Given the description of an element on the screen output the (x, y) to click on. 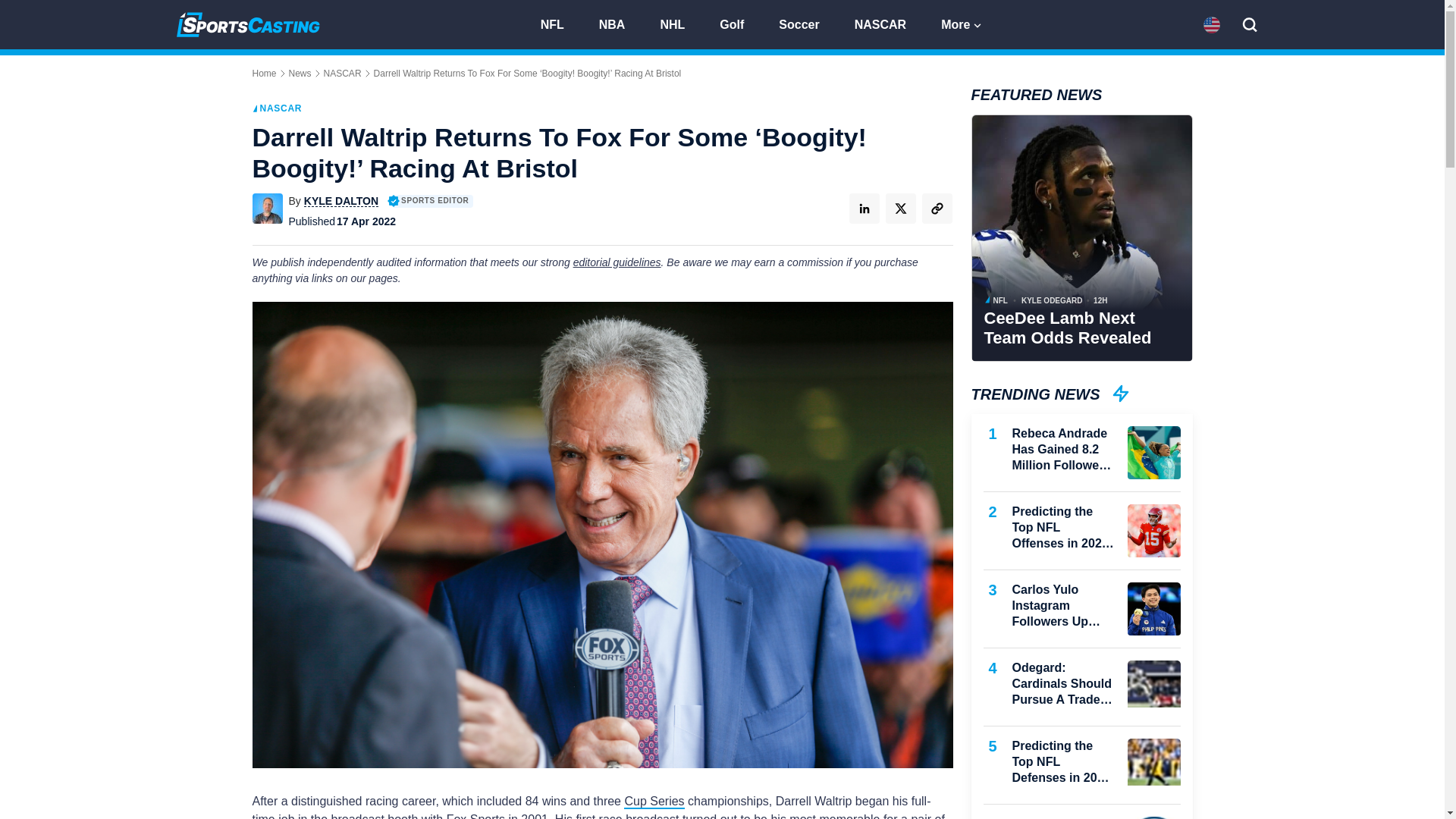
NHL (679, 22)
NBA (618, 22)
News (299, 72)
NFL (558, 22)
NASCAR (342, 72)
Golf (738, 22)
NASCAR (887, 22)
More (962, 22)
Soccer (805, 22)
Home (263, 72)
